Given the description of an element on the screen output the (x, y) to click on. 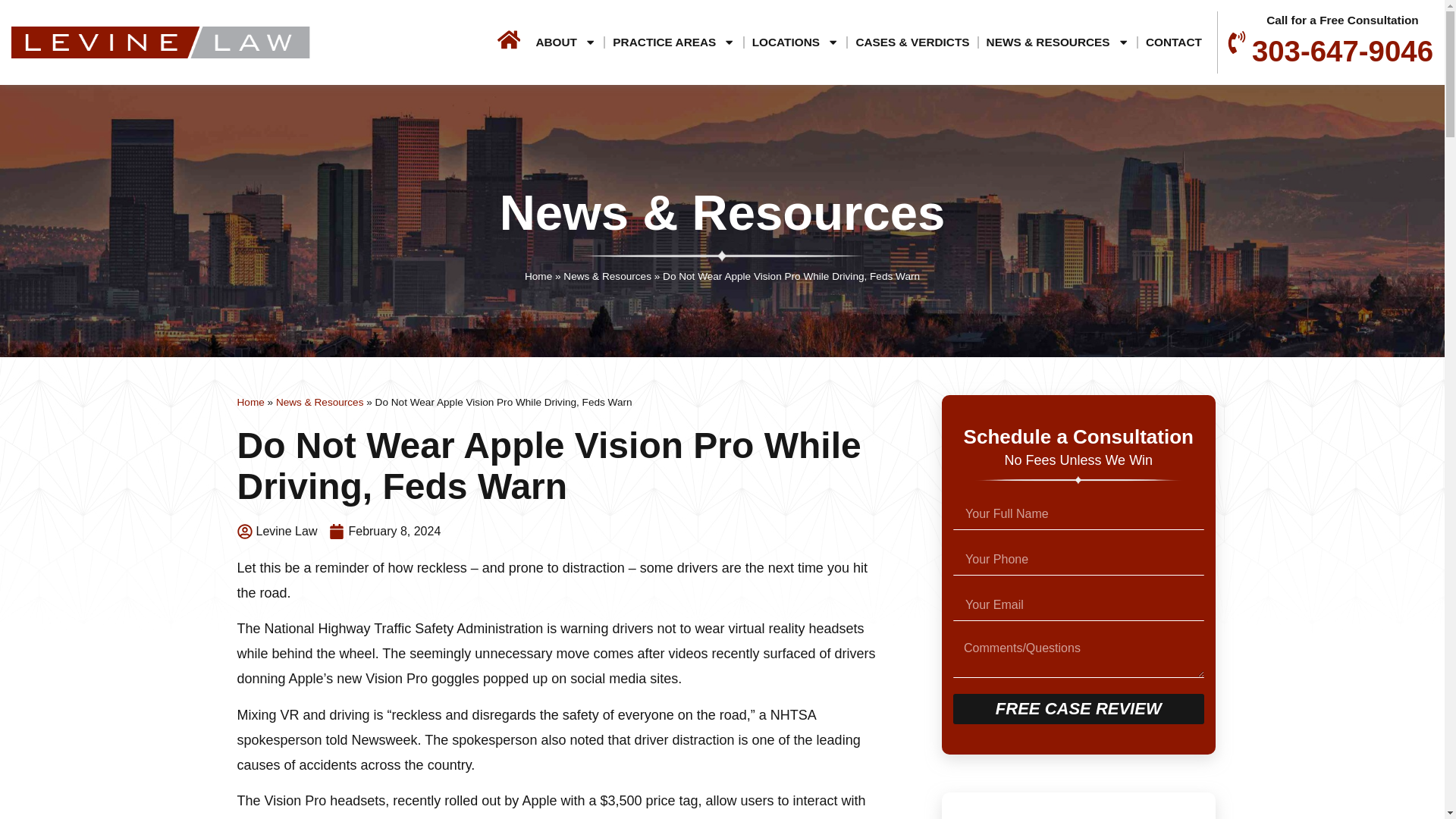
LOCATIONS (795, 42)
PRACTICE AREAS (673, 42)
ABOUT (565, 42)
